Given the description of an element on the screen output the (x, y) to click on. 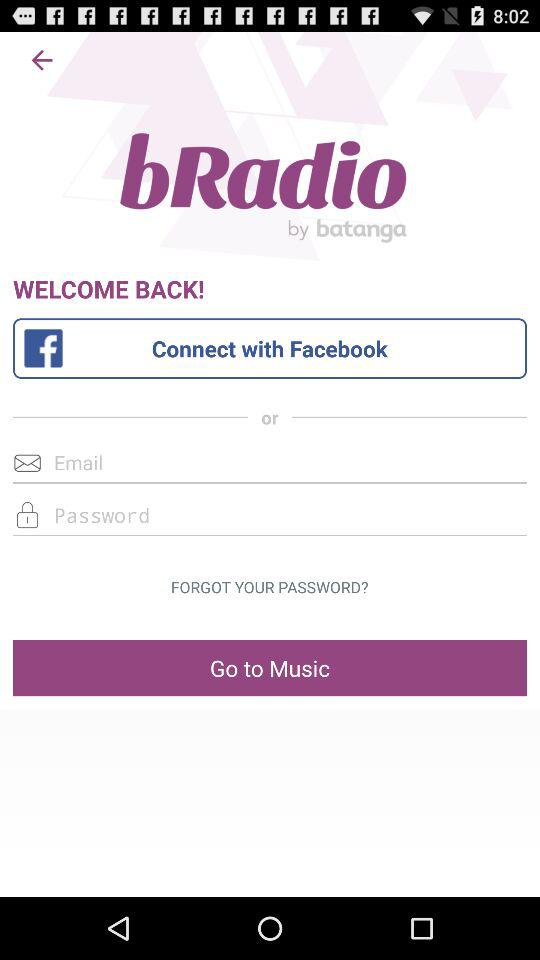
flip to go to music item (269, 667)
